Given the description of an element on the screen output the (x, y) to click on. 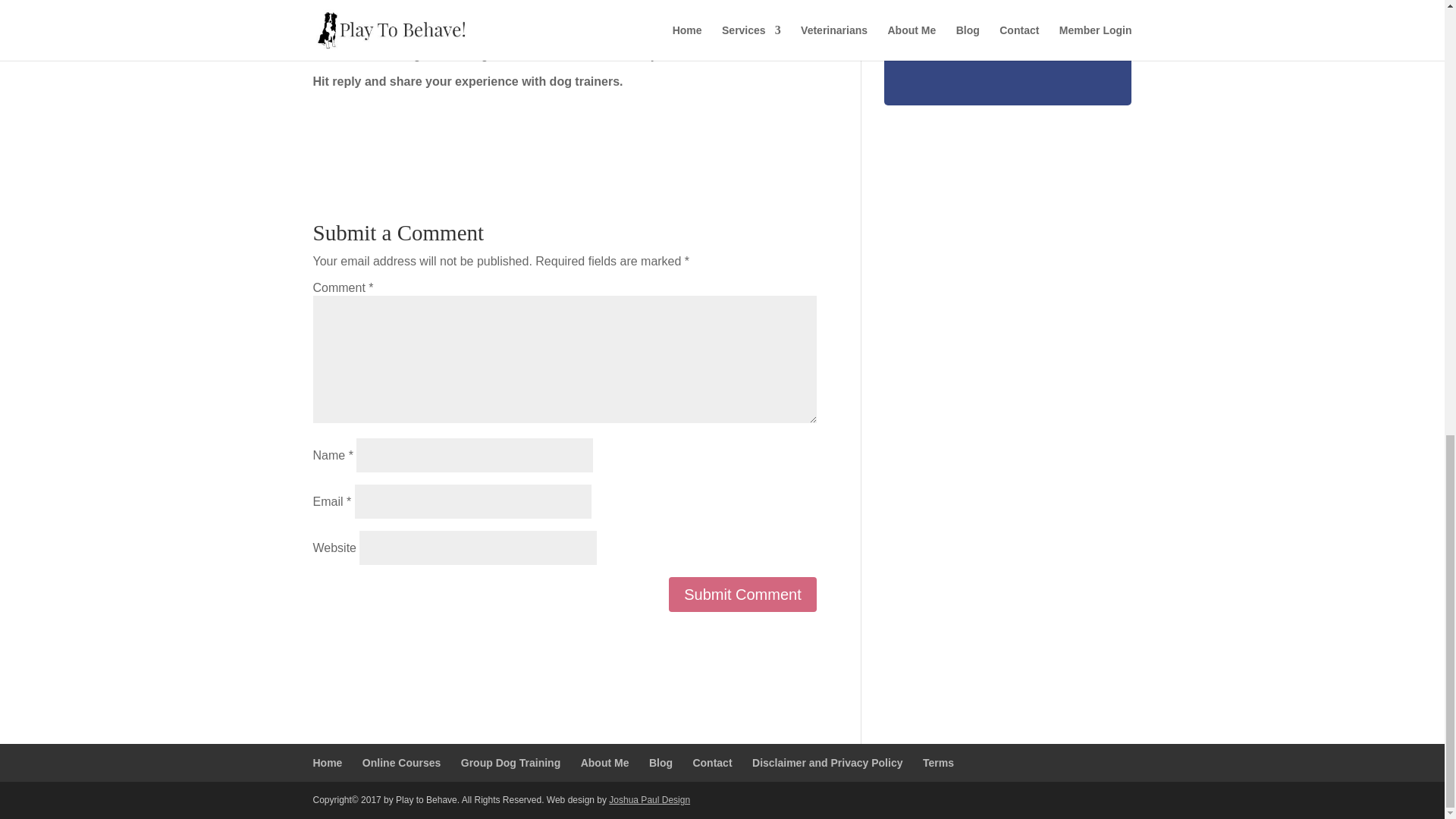
Submit Comment (742, 594)
Blog (660, 762)
About Me (604, 762)
Online Courses (401, 762)
Disclaimer and Privacy Policy (827, 762)
Joshua Paul Design (649, 799)
Contact (712, 762)
Group Dog Training (510, 762)
Submit Comment (742, 594)
Terms (938, 762)
Home (327, 762)
